Given the description of an element on the screen output the (x, y) to click on. 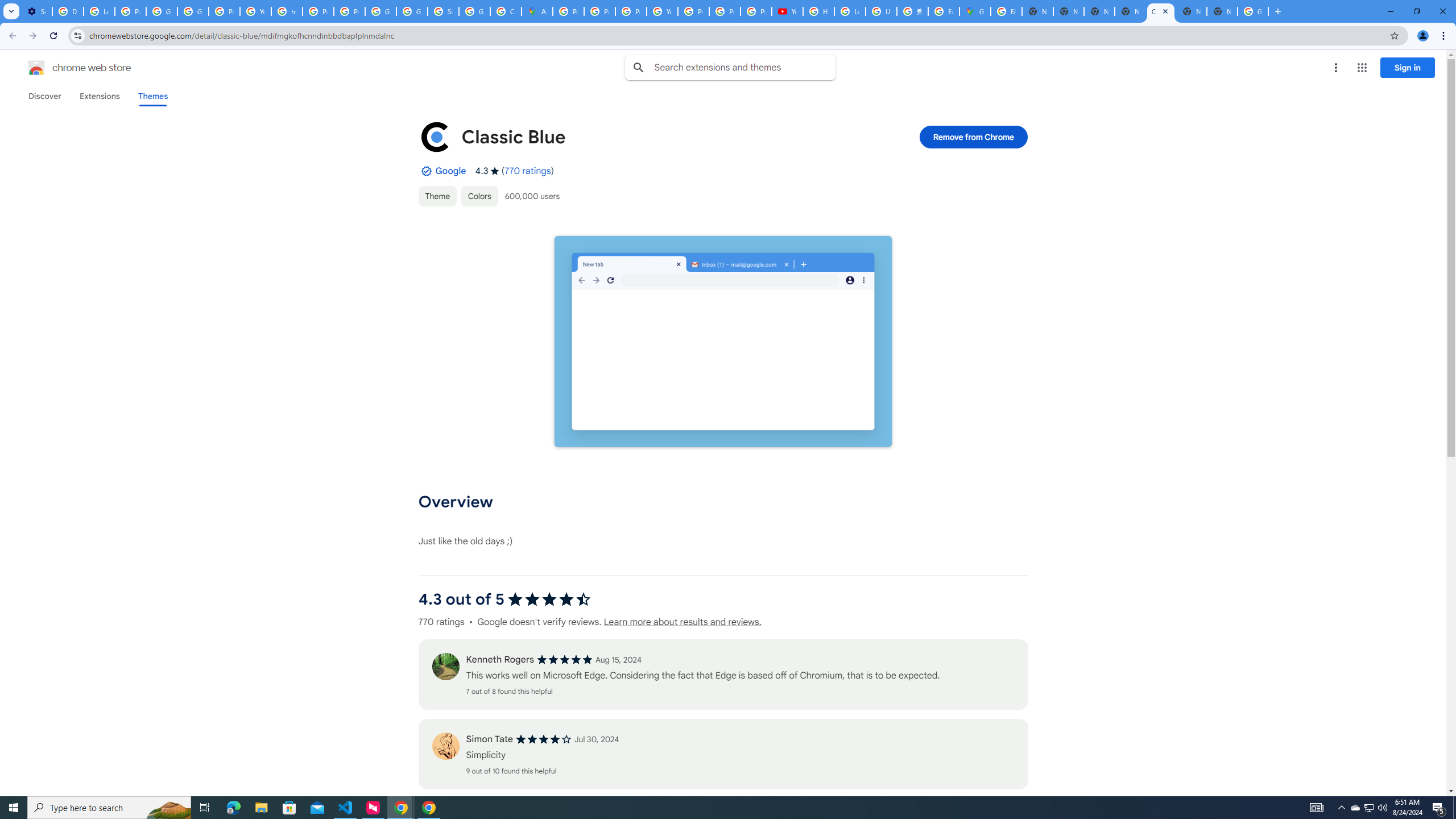
4.3 out of 5 stars (549, 599)
